Given the description of an element on the screen output the (x, y) to click on. 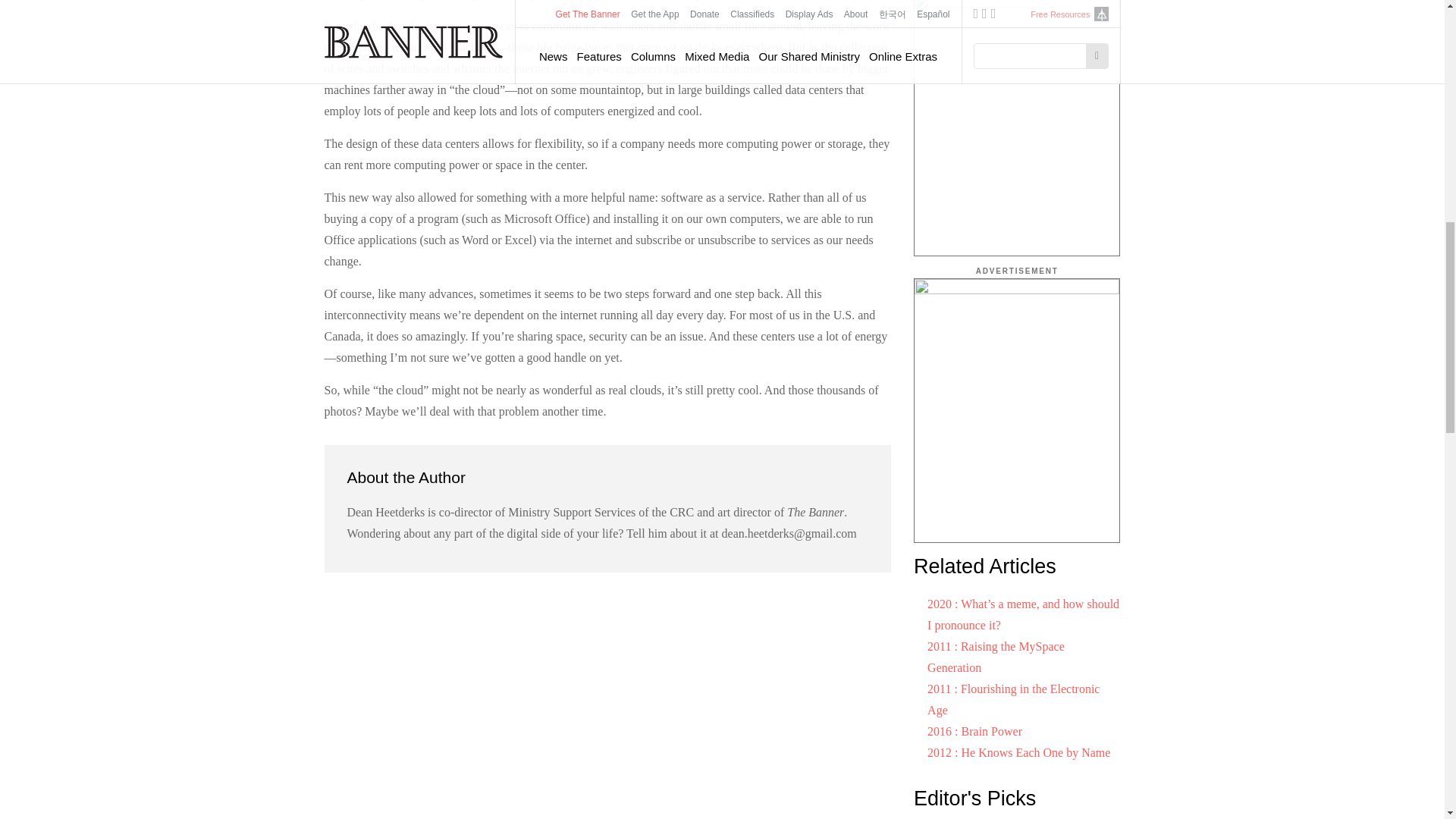
2011 : Raising the MySpace Generation (995, 656)
2012 : He Knows Each One by Name (1018, 752)
2016 : Brain Power (974, 730)
2011 : Flourishing in the Electronic Age (1013, 699)
